Given the description of an element on the screen output the (x, y) to click on. 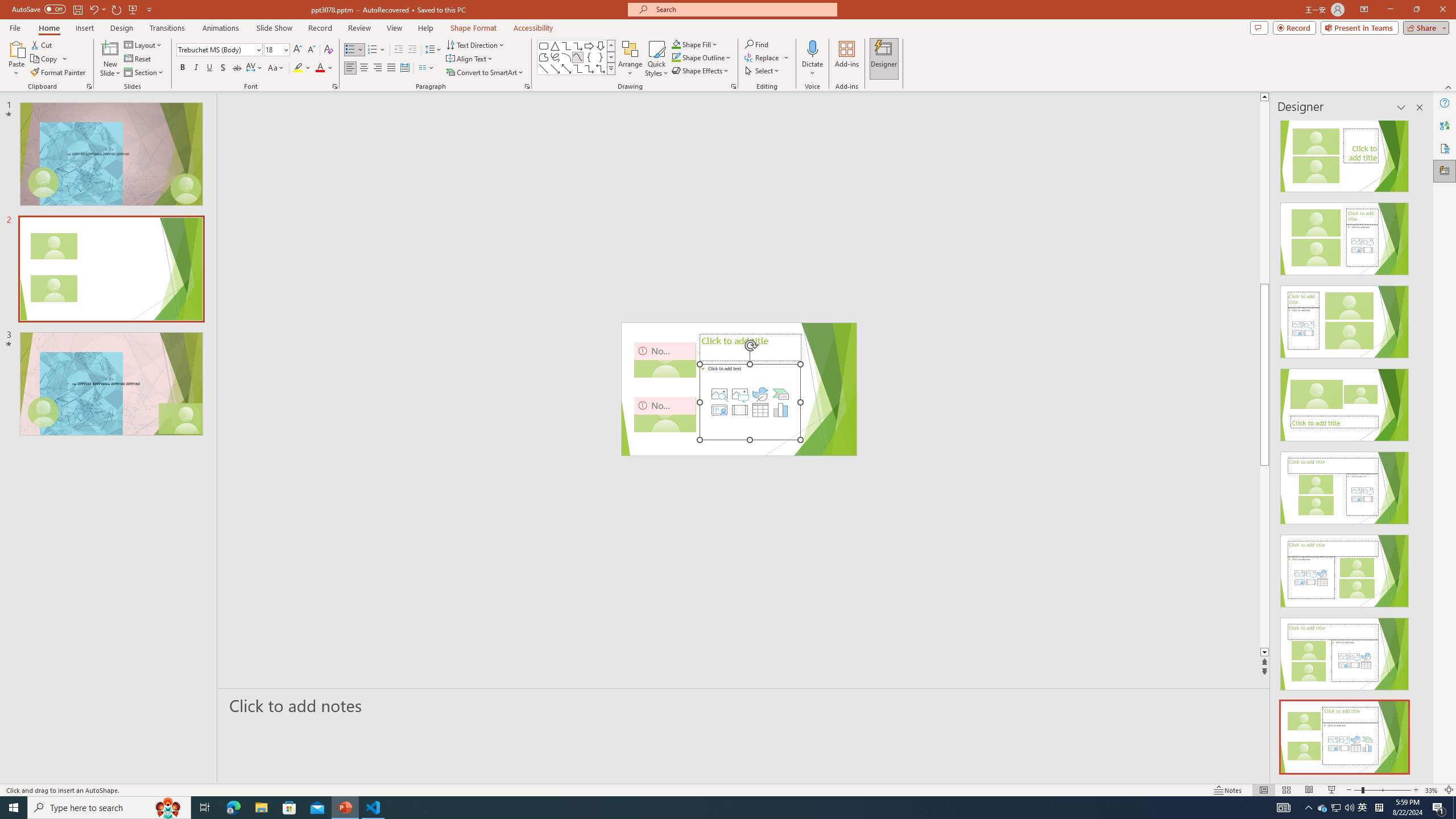
Stock Images (719, 394)
Class: NetUIScrollBar (1418, 447)
Insert an Icon (760, 394)
